Given the description of an element on the screen output the (x, y) to click on. 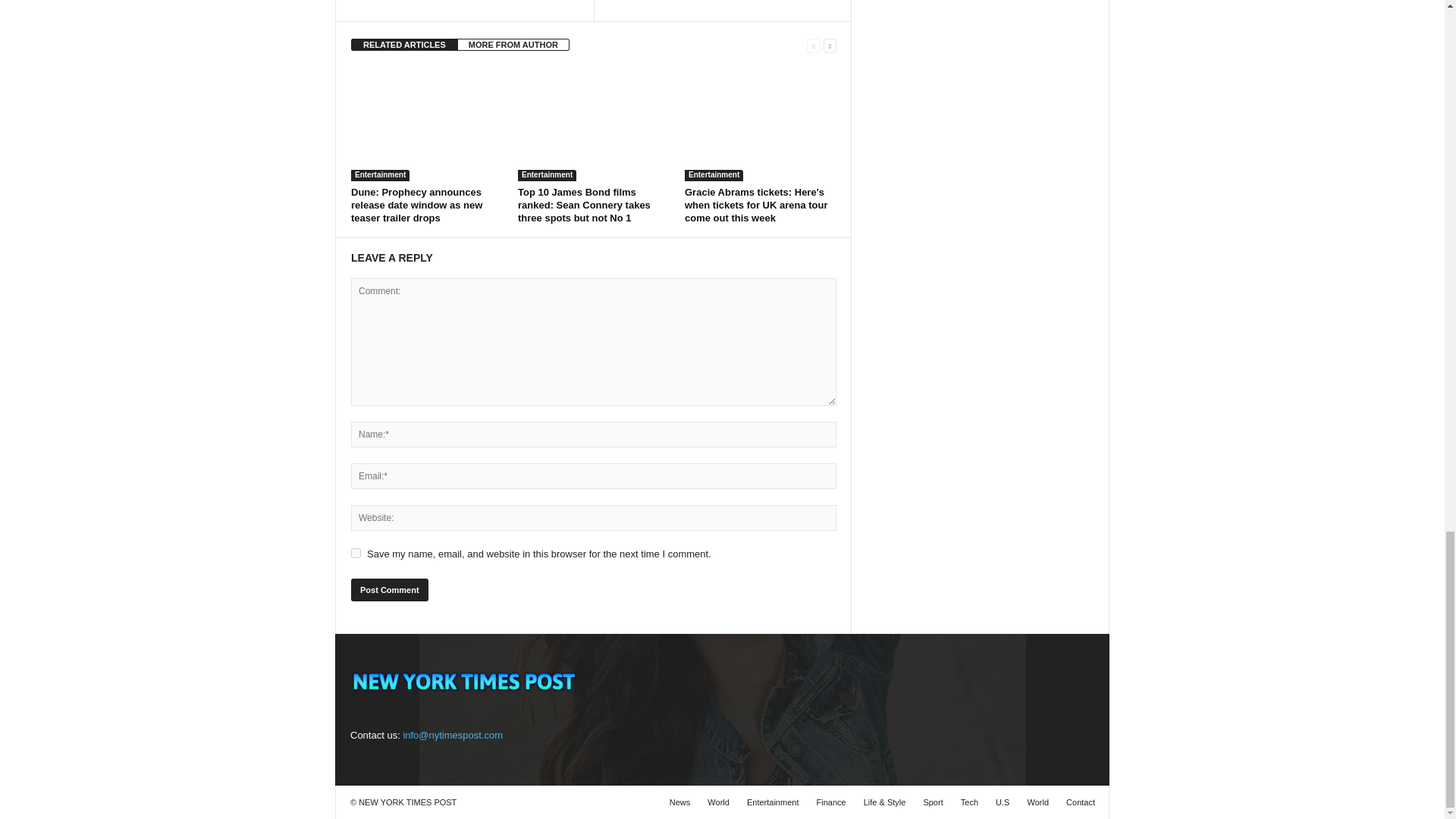
yes (355, 552)
Post Comment (389, 589)
